Given the description of an element on the screen output the (x, y) to click on. 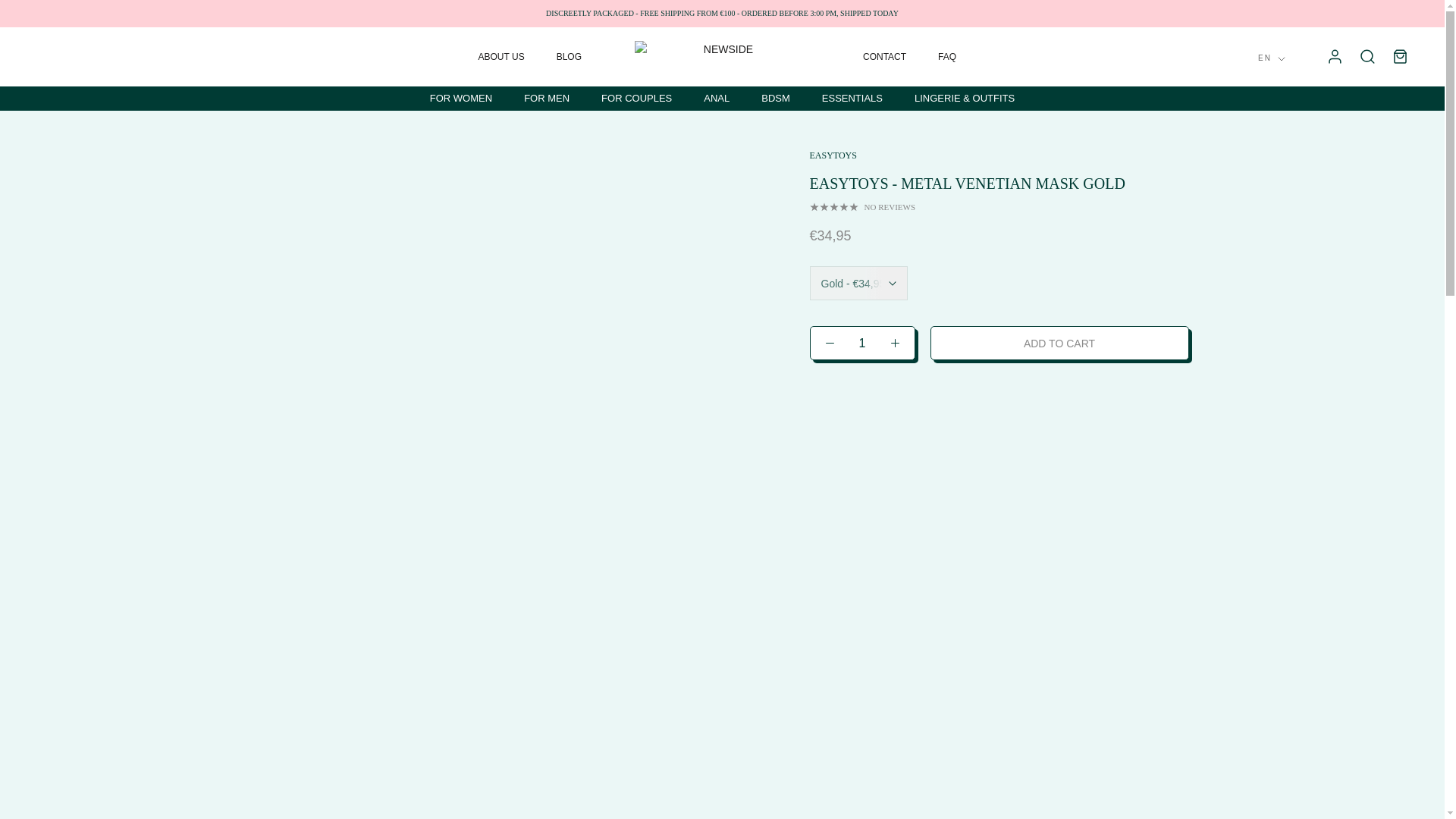
1 (862, 343)
 About us (501, 56)
For women (460, 98)
Contact (884, 56)
Cart (1399, 56)
My account (1333, 56)
FAQ (946, 56)
Search (1366, 56)
Blog (568, 56)
